Given the description of an element on the screen output the (x, y) to click on. 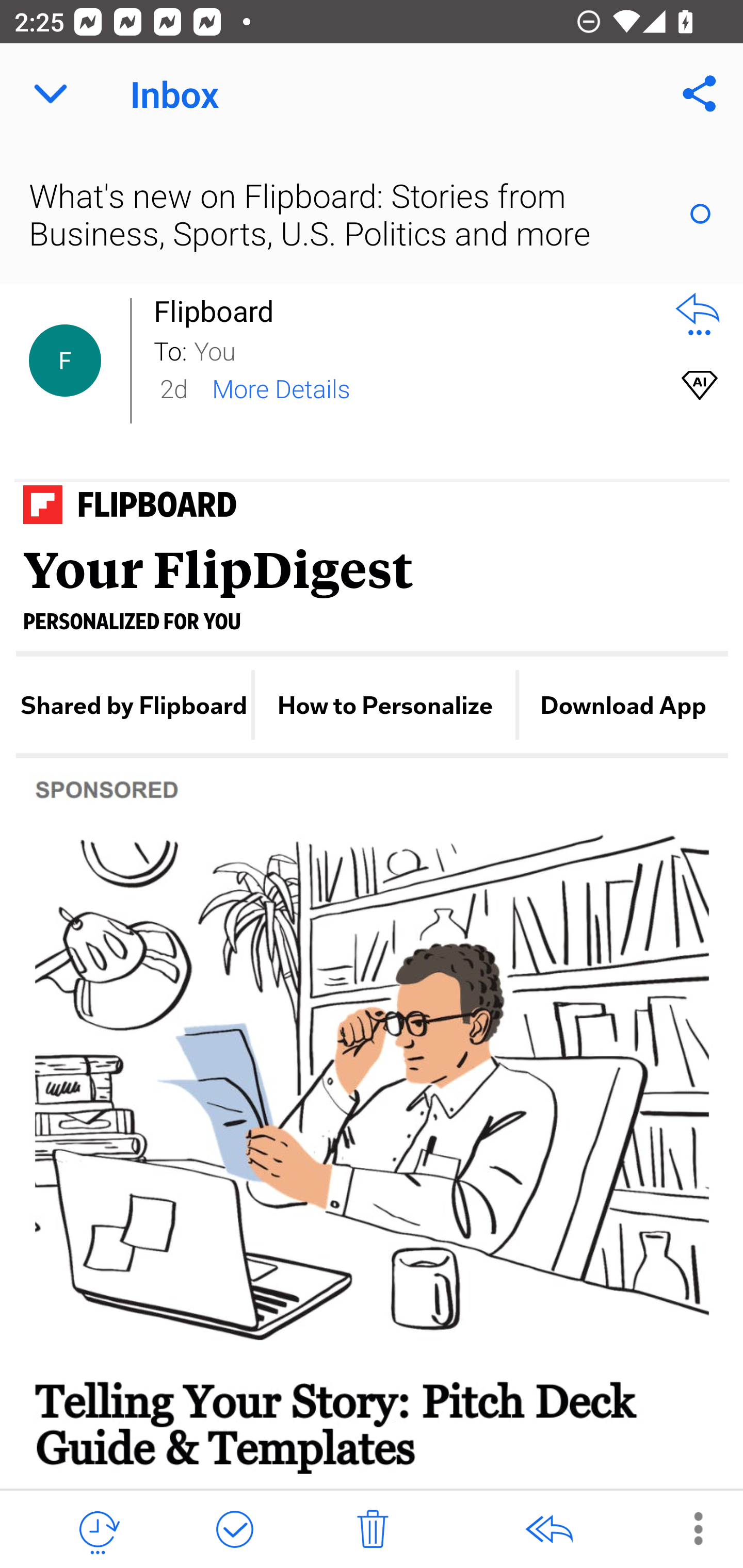
Navigate up (50, 93)
Share (699, 93)
Mark as Read (699, 213)
Flipboard (219, 310)
Contact Details (64, 360)
More Details (280, 387)
Shared by Flipboard (133, 705)
How to Personalize (385, 705)
Download App (623, 705)
More Options (687, 1528)
Snooze (97, 1529)
Mark as Done (234, 1529)
Delete (372, 1529)
Reply All (548, 1529)
